Given the description of an element on the screen output the (x, y) to click on. 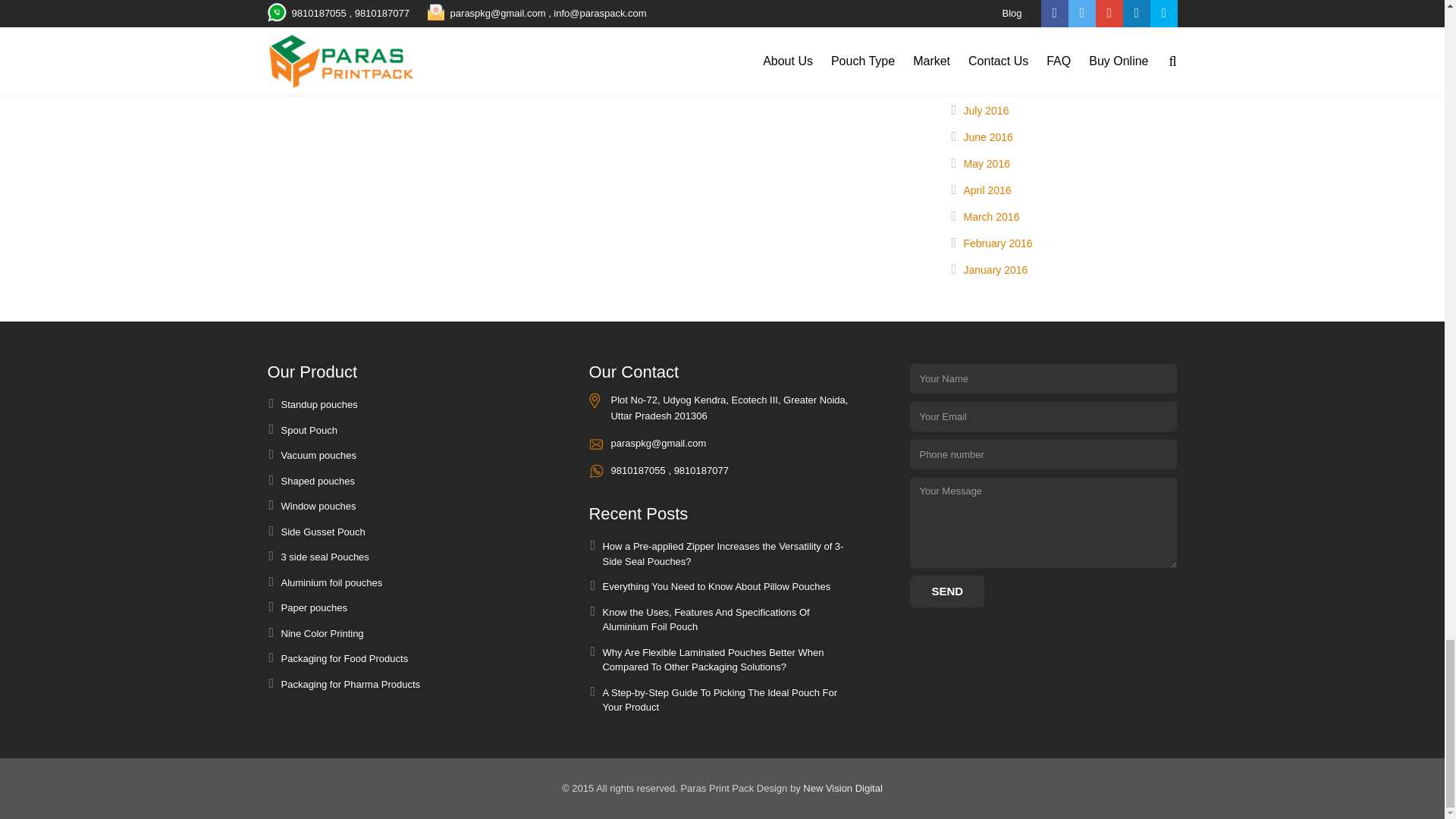
Send (947, 591)
